Given the description of an element on the screen output the (x, y) to click on. 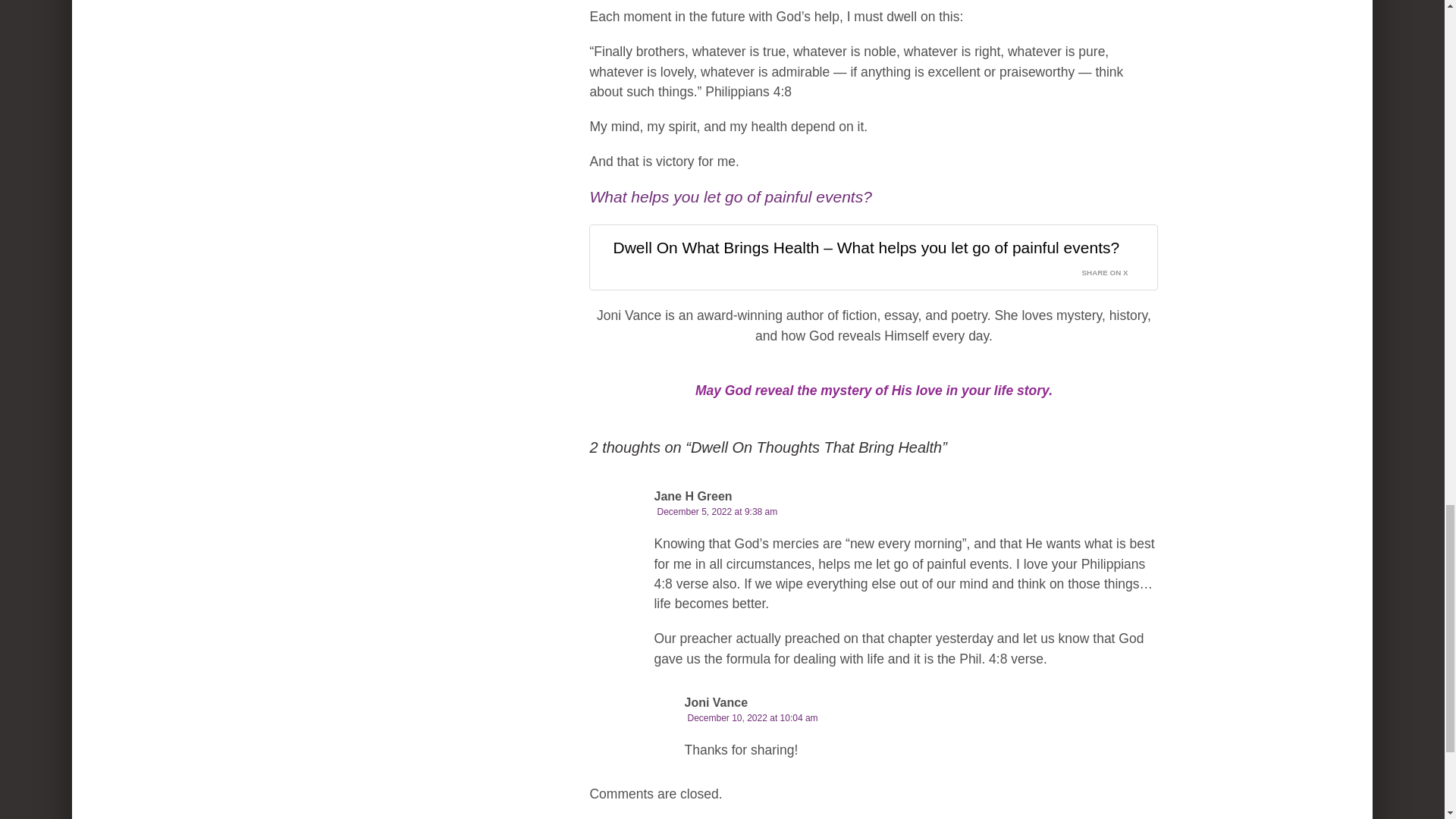
SHARE ON X (1114, 269)
December 10, 2022 at 10:04 am (751, 717)
December 5, 2022 at 9:38 am (716, 511)
